Given the description of an element on the screen output the (x, y) to click on. 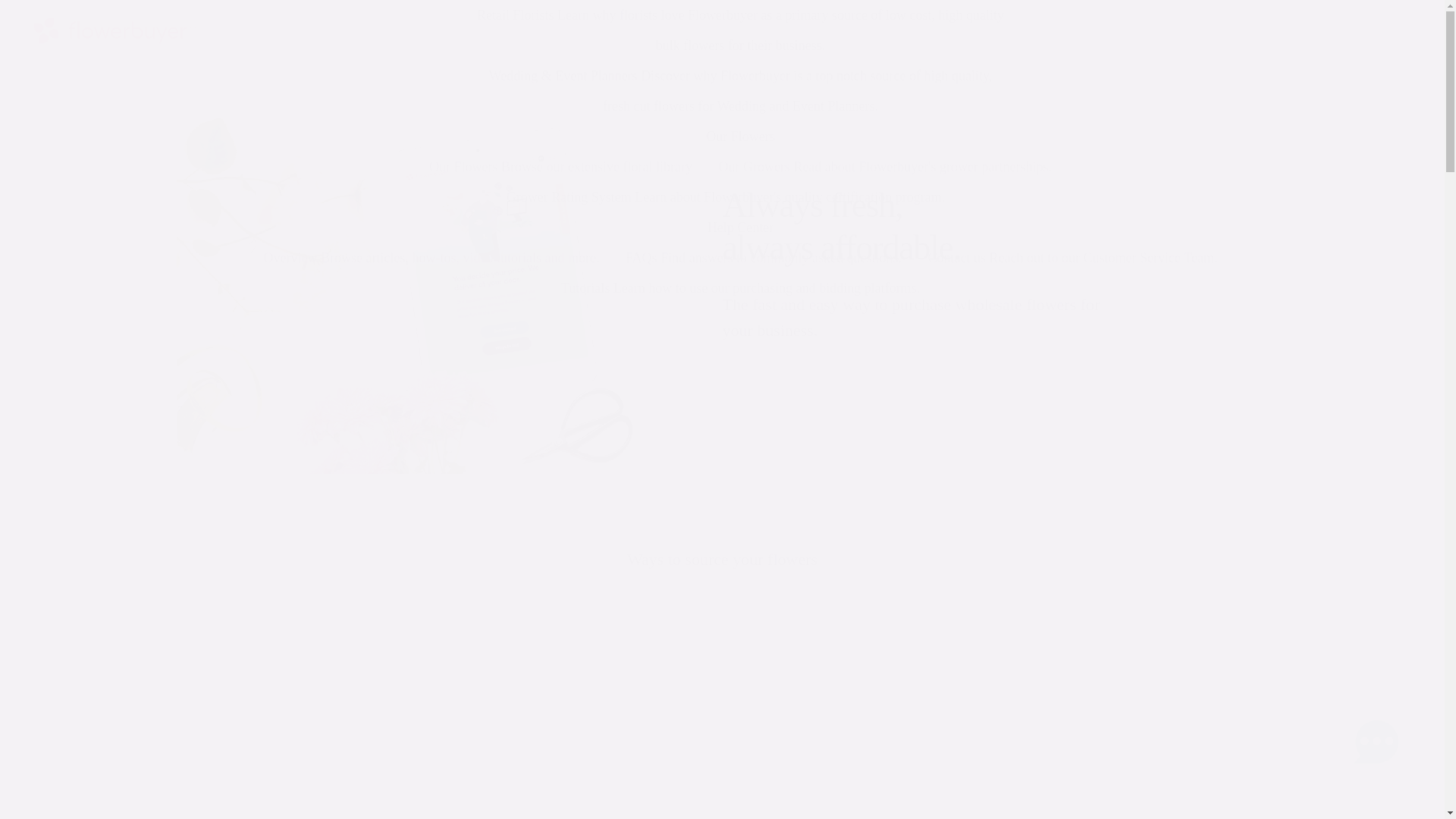
FAQs (642, 258)
Our Growers (753, 166)
Tutorials (585, 288)
Our Flowers (463, 166)
Help Center (740, 227)
Retail Florists (515, 15)
Overview (290, 258)
Grower Rating System (568, 197)
Home (114, 30)
Log In (1354, 45)
Sign up (809, 400)
Our Flowers (740, 136)
Sign Up (1347, 15)
Contact us (957, 258)
Ways to buy (991, 400)
